Given the description of an element on the screen output the (x, y) to click on. 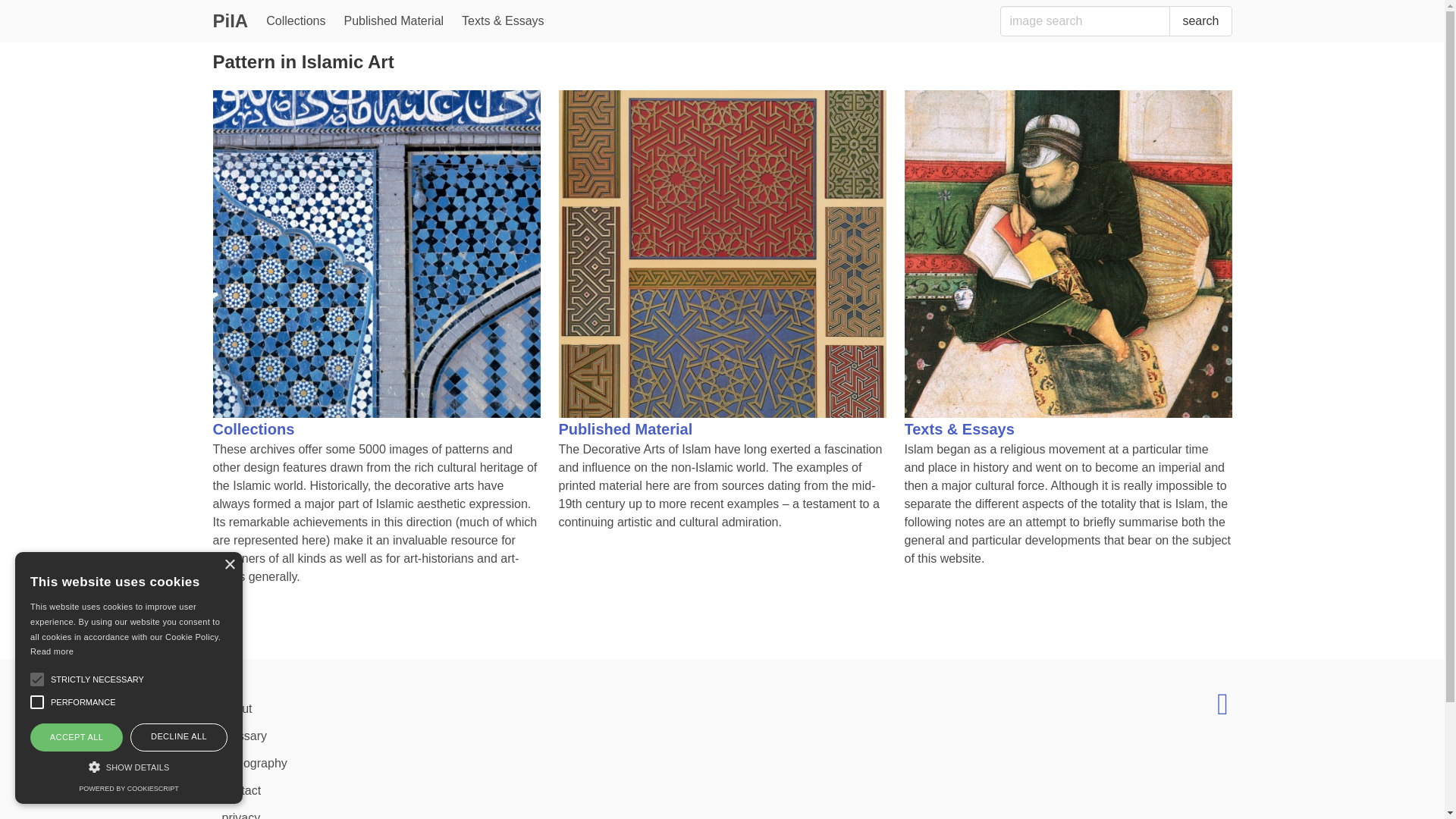
privacy (461, 811)
Consent Management Platform (127, 788)
glossary (461, 736)
POWERED BY COOKIESCRIPT (127, 788)
search (1200, 20)
contact (461, 790)
Read more (52, 651)
bibliography (461, 763)
Published Material (393, 21)
PiIA (230, 21)
